Given the description of an element on the screen output the (x, y) to click on. 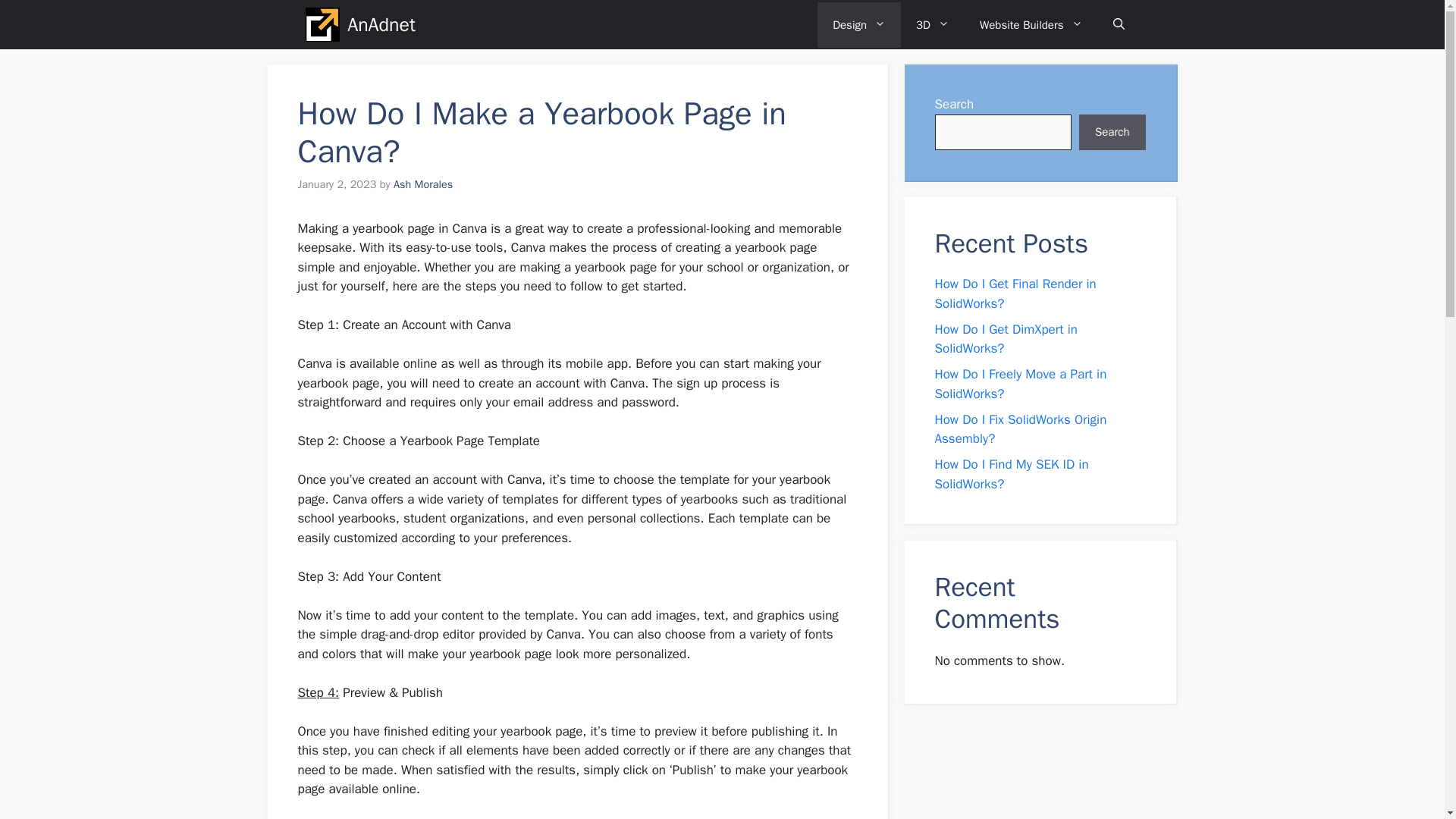
How Do I Get DimXpert in SolidWorks? (1005, 339)
How Do I Fix SolidWorks Origin Assembly? (1020, 428)
Ash Morales (422, 183)
How Do I Get Final Render in SolidWorks? (1015, 294)
How Do I Find My SEK ID in SolidWorks? (1010, 474)
Website Builders (1030, 23)
How Do I Freely Move a Part in SolidWorks? (1020, 384)
Search (1111, 131)
3D (932, 23)
AnAdnet (380, 24)
